Given the description of an element on the screen output the (x, y) to click on. 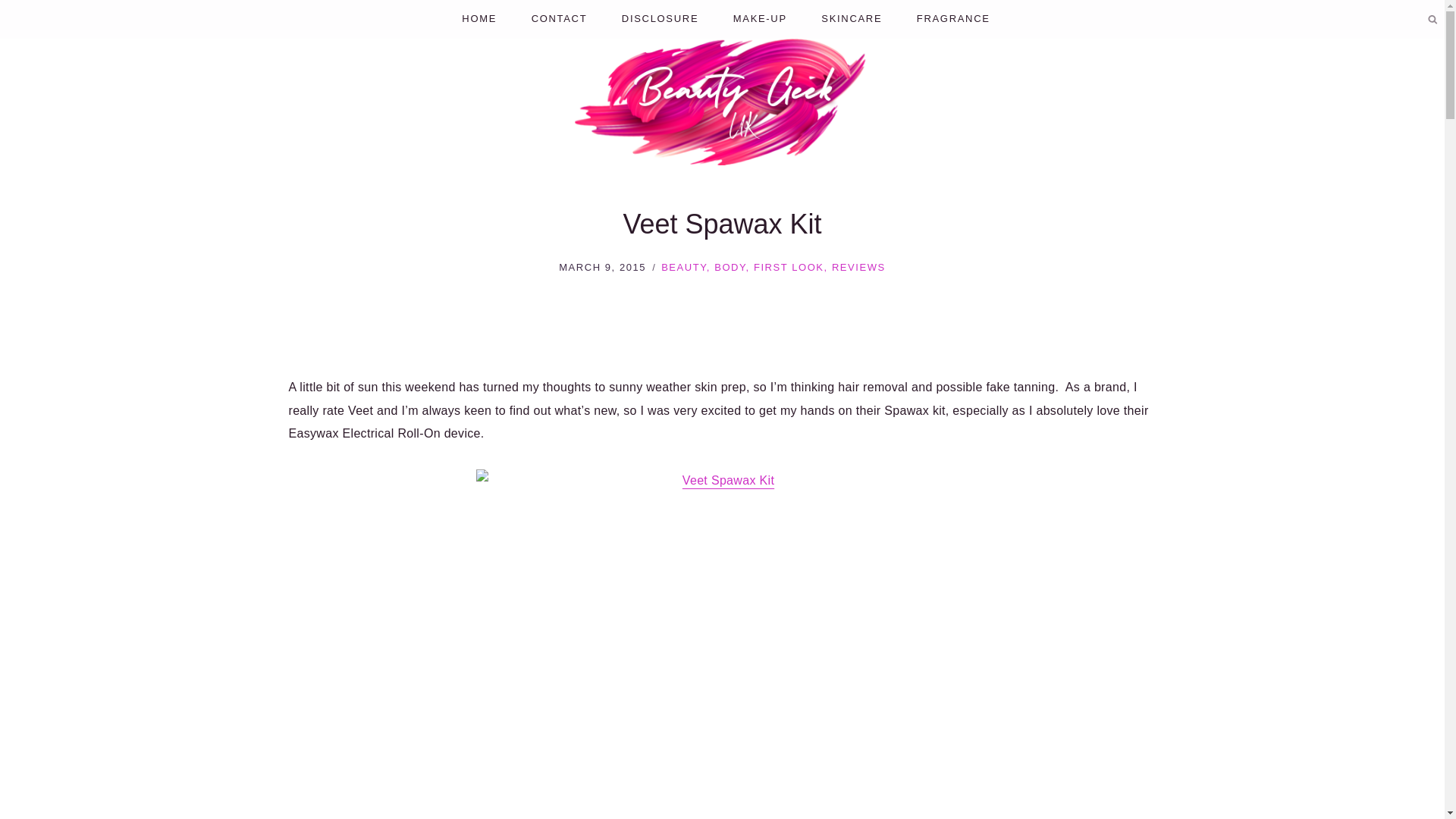
REVIEWS (858, 266)
CONTACT (558, 19)
FIRST LOOK (789, 266)
BODY (729, 266)
HOME (479, 19)
DISCLOSURE (660, 19)
MAKE-UP (760, 19)
FRAGRANCE (953, 19)
SKINCARE (852, 19)
BEAUTY (683, 266)
